Given the description of an element on the screen output the (x, y) to click on. 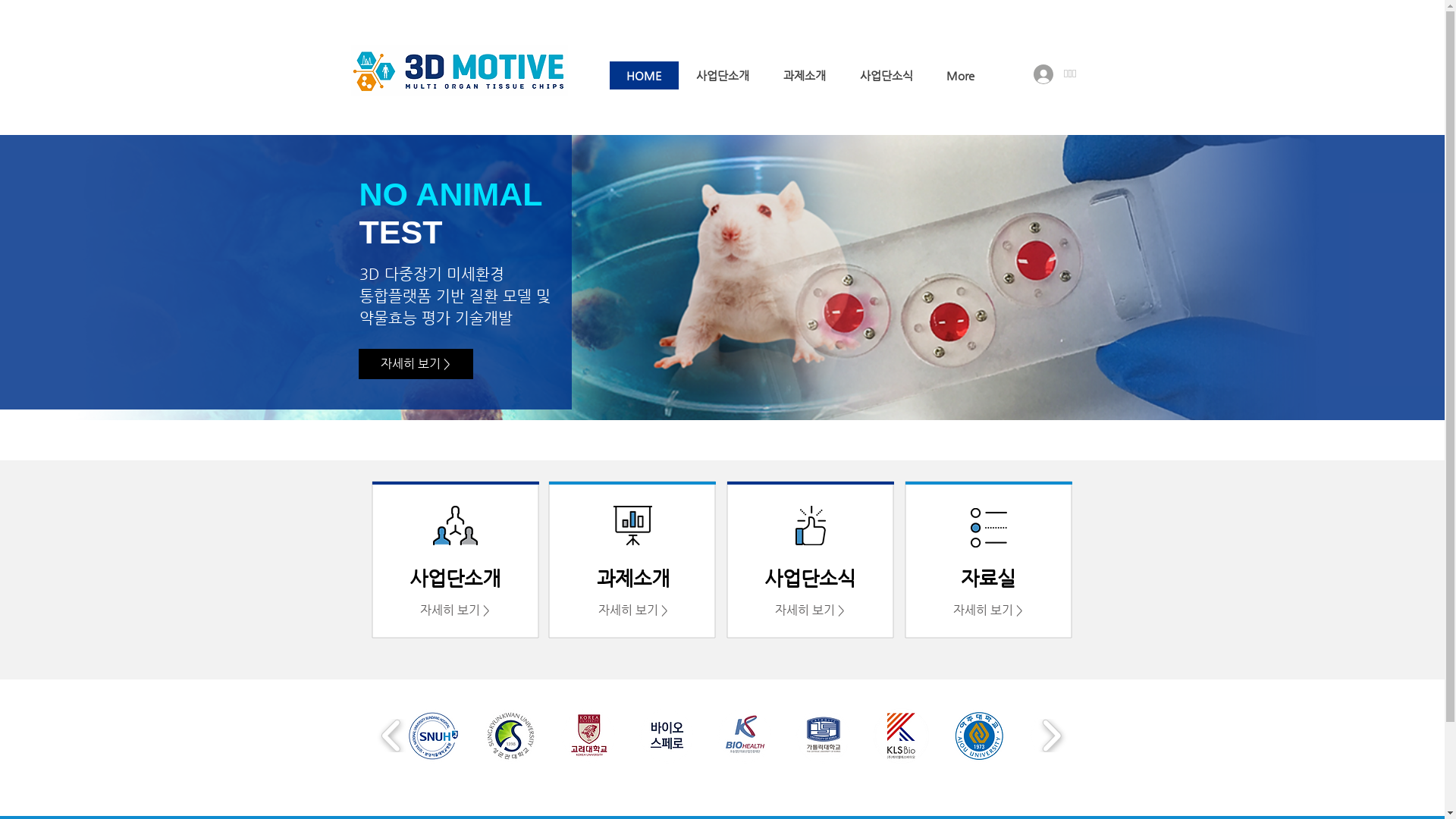
HOME Element type: text (643, 75)
